Given the description of an element on the screen output the (x, y) to click on. 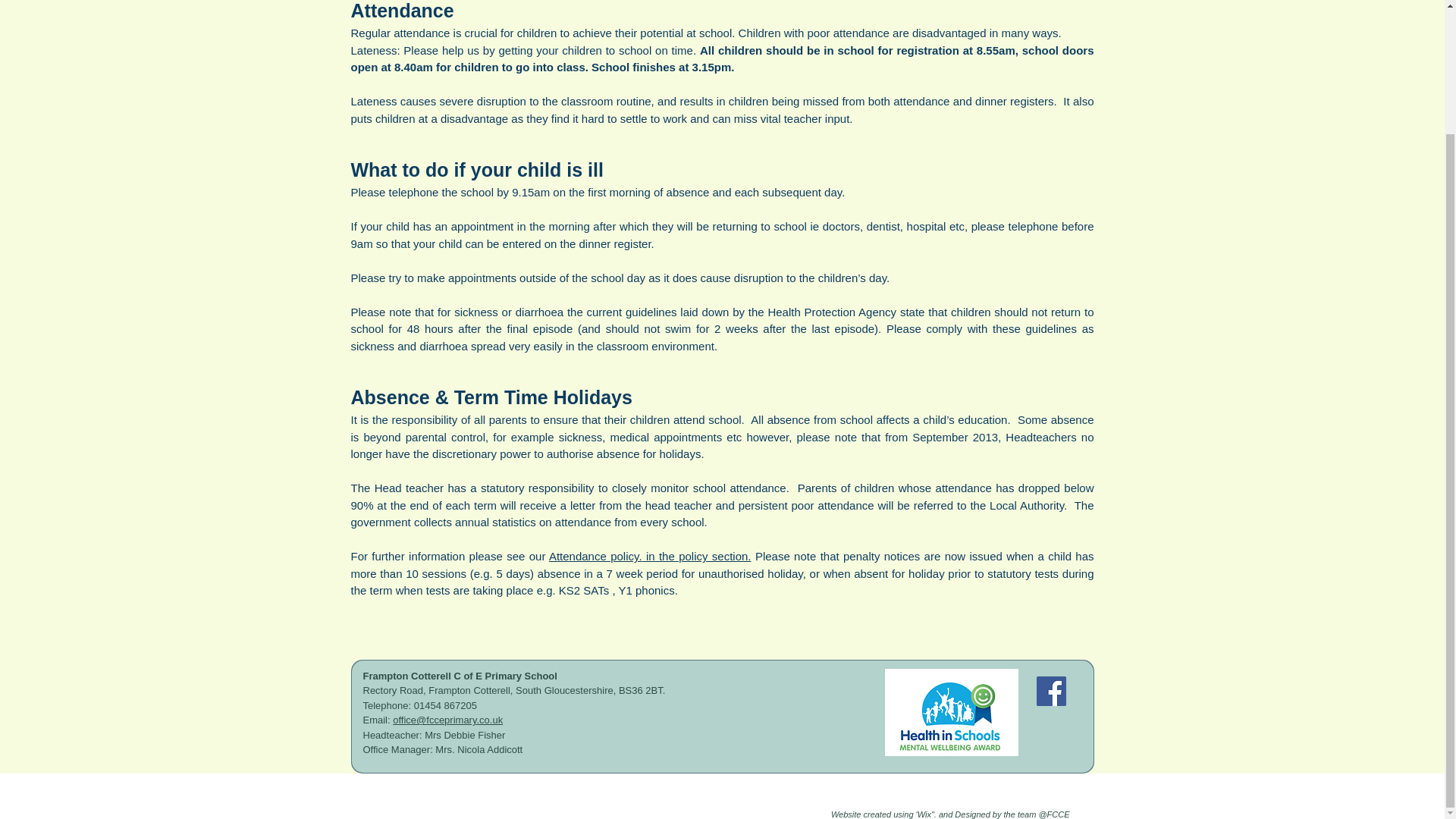
Mental Wellbeing Award.PNG (950, 712)
